Given the description of an element on the screen output the (x, y) to click on. 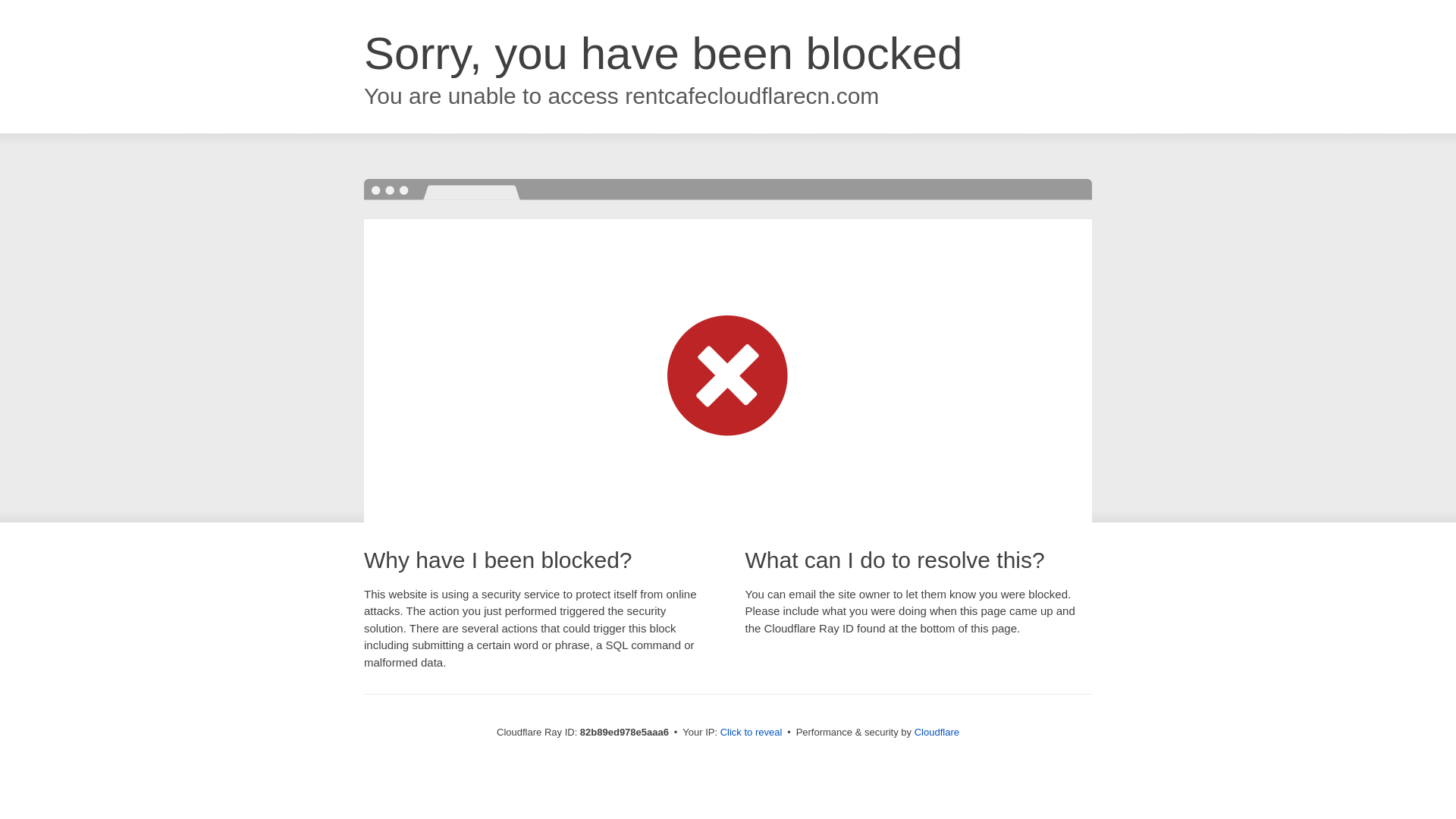
Cloudflare Element type: text (936, 731)
Click to reveal Element type: text (751, 732)
